Given the description of an element on the screen output the (x, y) to click on. 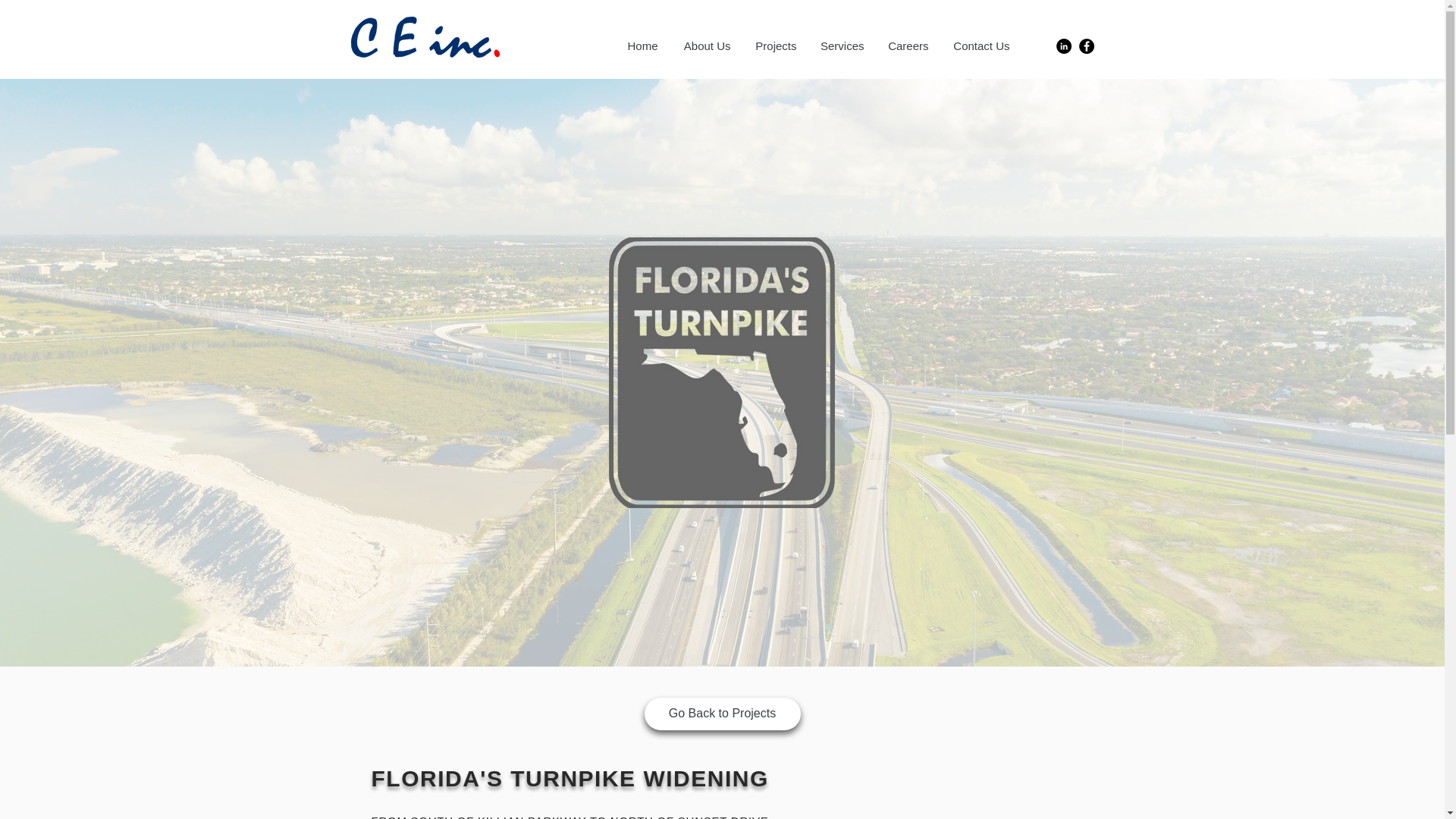
Projects (774, 46)
Home (641, 46)
Careers (907, 46)
Go Back to Projects (722, 713)
Contact Us (981, 46)
